Given the description of an element on the screen output the (x, y) to click on. 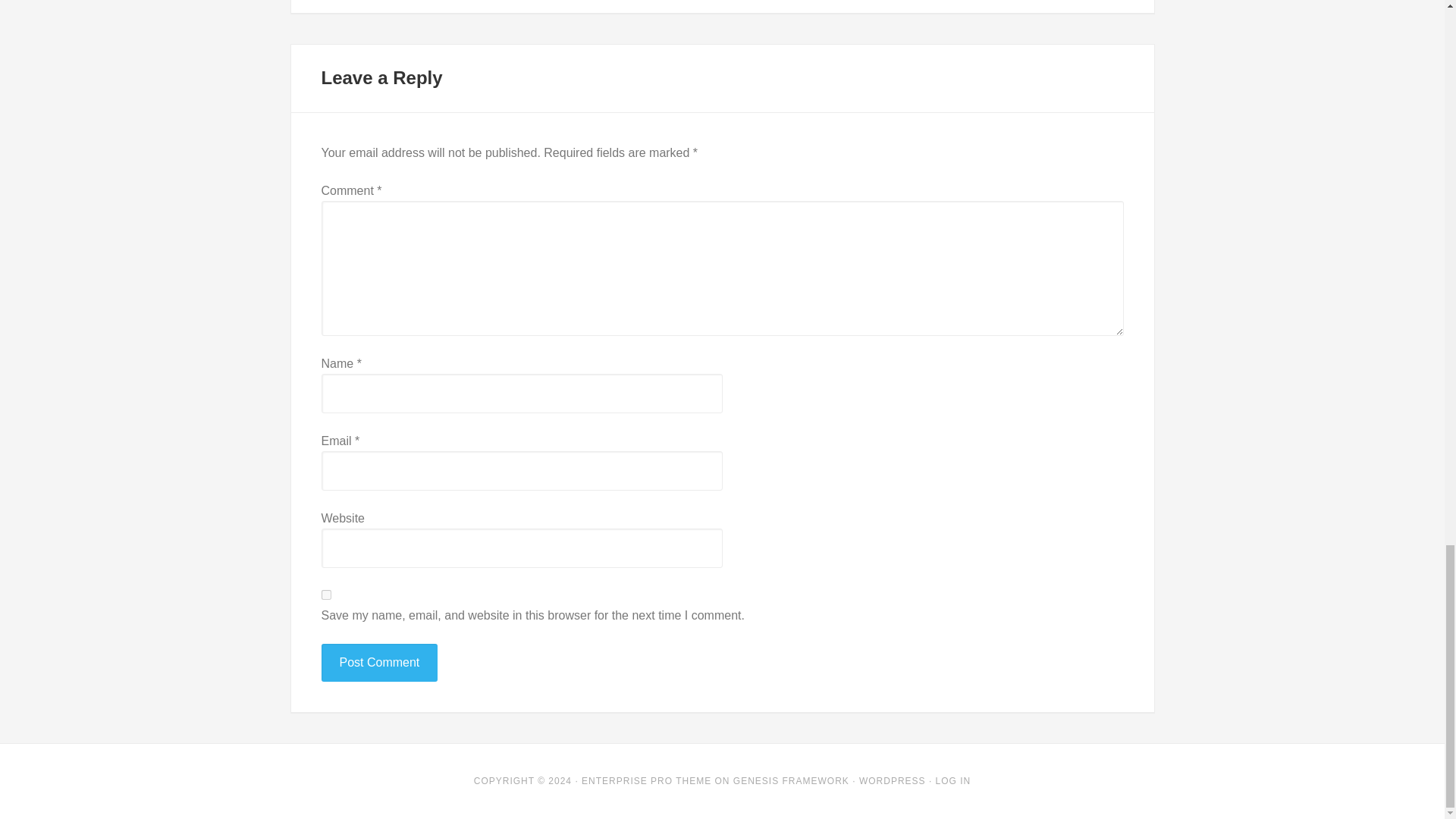
Post Comment (379, 662)
LOG IN (953, 780)
WORDPRESS (892, 780)
ENTERPRISE PRO THEME (645, 780)
yes (326, 594)
Post Comment (379, 662)
GENESIS FRAMEWORK (790, 780)
